Given the description of an element on the screen output the (x, y) to click on. 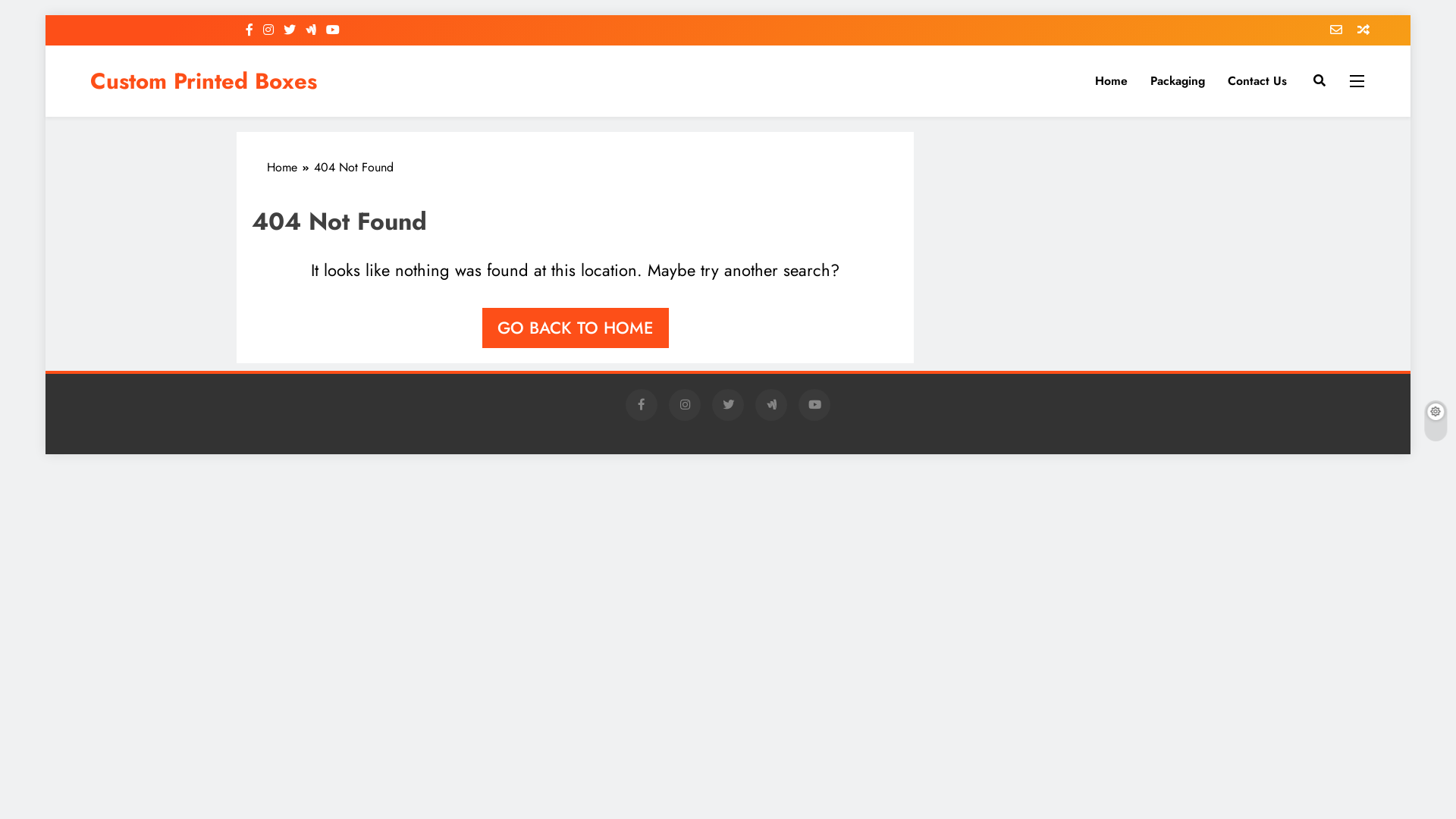
Home Element type: text (289, 167)
Newsletter Element type: hover (1330, 30)
Random News Element type: hover (1357, 30)
Home Element type: text (1111, 80)
Skip to content Element type: text (44, 14)
Custom Printed Boxes Element type: text (203, 81)
Contact Us Element type: text (1257, 80)
Packaging Element type: text (1177, 80)
GO BACK TO HOME Element type: text (575, 327)
